Given the description of an element on the screen output the (x, y) to click on. 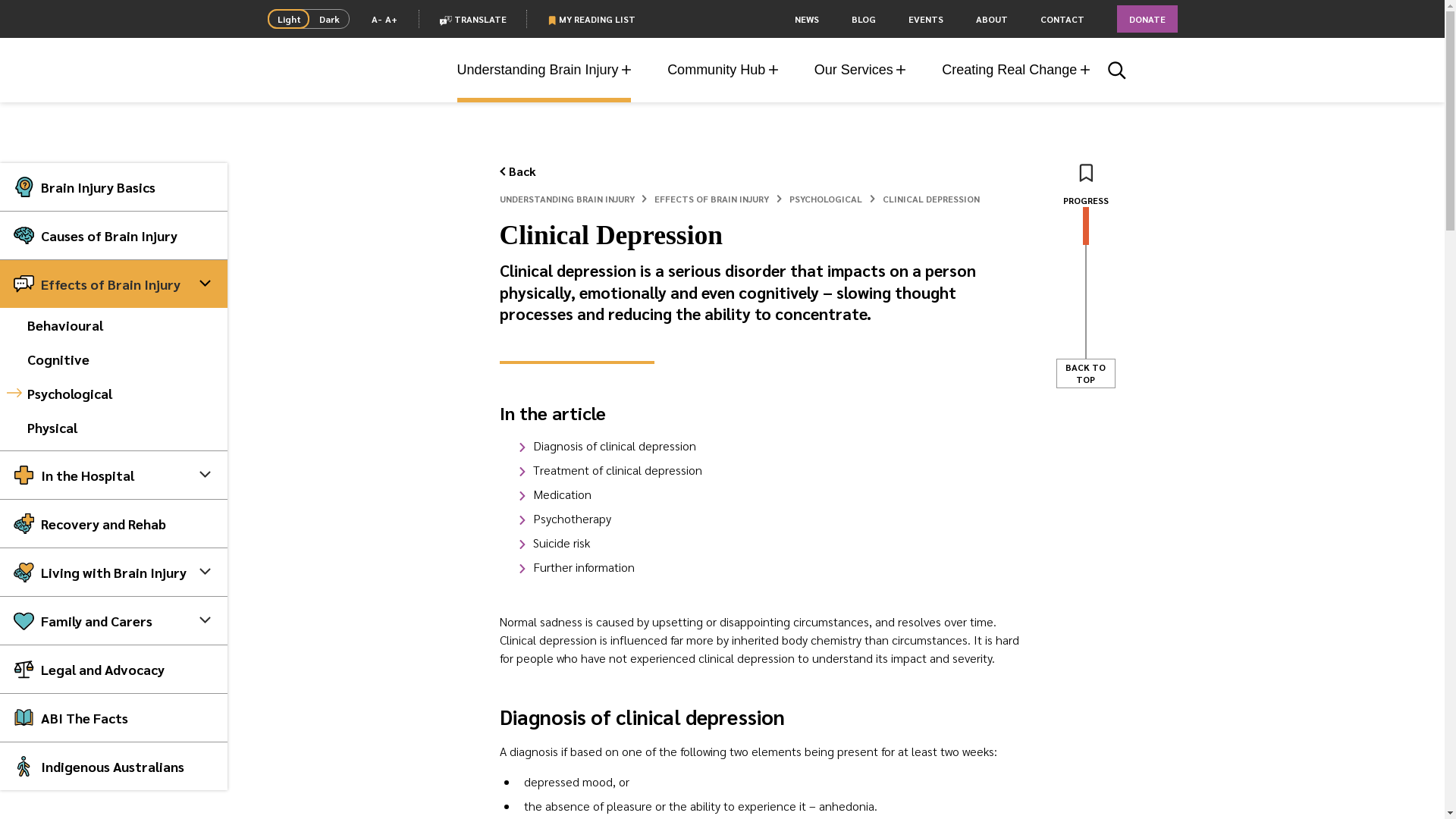
Creating Real Change Element type: text (1015, 69)
BLOG Element type: text (862, 18)
UNDERSTANDING BRAIN INJURY Element type: text (565, 198)
DONATE Element type: text (1146, 18)
A+ Element type: text (391, 18)
NEWS Element type: text (806, 18)
CONTACT Element type: text (1062, 18)
Treatment of clinical depression Element type: text (616, 469)
Understanding Brain Injury Element type: text (543, 69)
Further information Element type: text (582, 566)
Suicide risk Element type: text (560, 542)
BACK TO TOP Element type: text (1084, 372)
Psychological Element type: text (113, 393)
EFFECTS OF BRAIN INJURY Element type: text (711, 198)
Medication Element type: text (561, 494)
A- Element type: text (376, 18)
TRANSLATE Element type: text (472, 18)
Search Element type: hover (1116, 68)
EVENTS Element type: text (925, 18)
Our Services Element type: text (860, 69)
Physical Element type: text (113, 427)
LightDark Element type: text (307, 18)
PSYCHOLOGICAL Element type: text (825, 198)
Community Hub Element type: text (722, 69)
Back Element type: text (516, 171)
MY READING LIST Element type: text (591, 18)
Diagnosis of clinical depression Element type: text (613, 445)
Cognitive Element type: text (113, 359)
Behavioural Element type: text (113, 324)
ABOUT Element type: text (991, 18)
Psychotherapy Element type: text (571, 518)
